Given the description of an element on the screen output the (x, y) to click on. 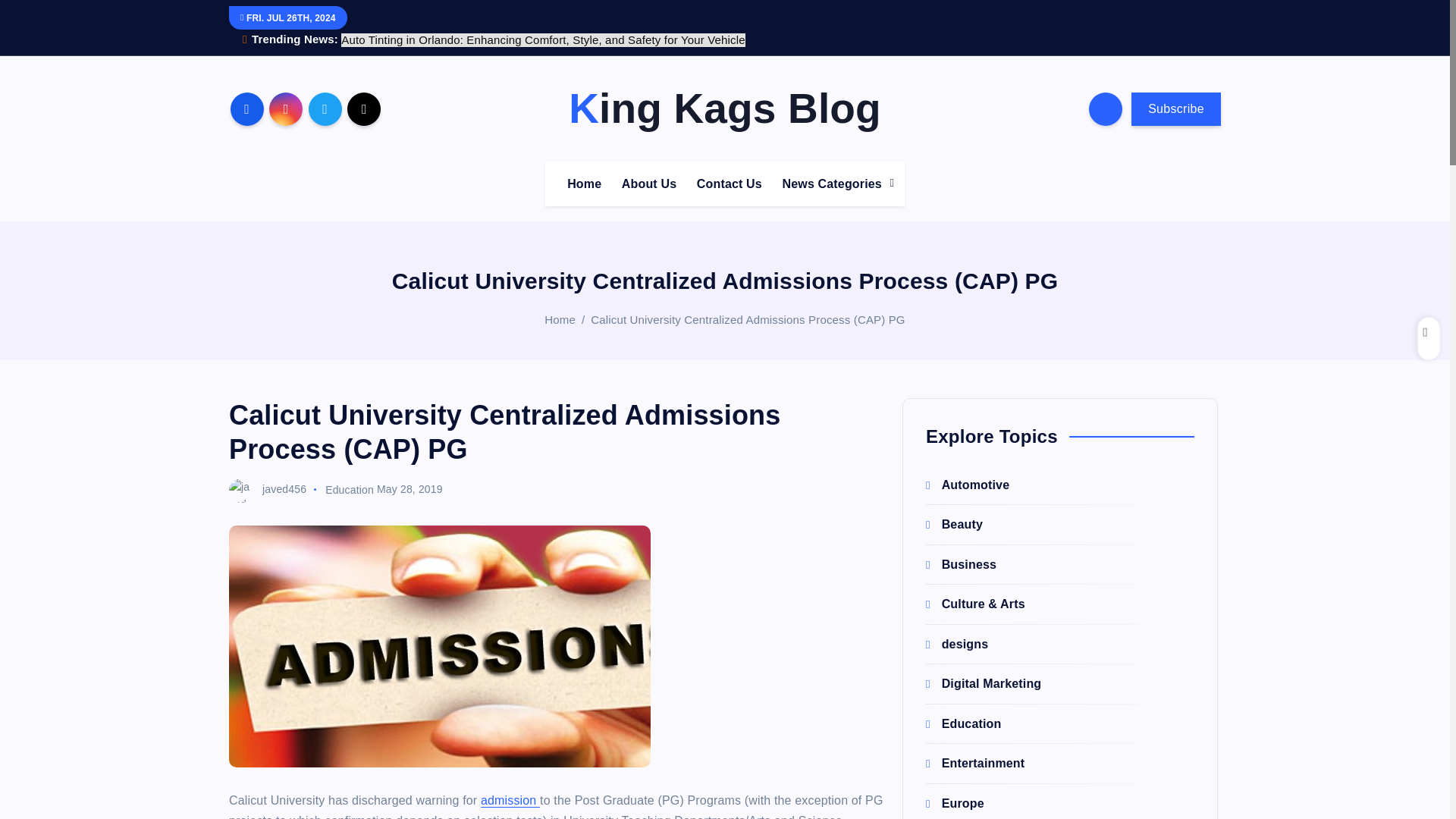
Contact Us (729, 184)
News Categories (833, 184)
King Kags Blog (724, 108)
About Us (648, 184)
Home (583, 184)
About Us (648, 184)
Home (583, 184)
Subscribe (1176, 109)
Home (559, 318)
News Categories (833, 184)
Contact Us (729, 184)
